Given the description of an element on the screen output the (x, y) to click on. 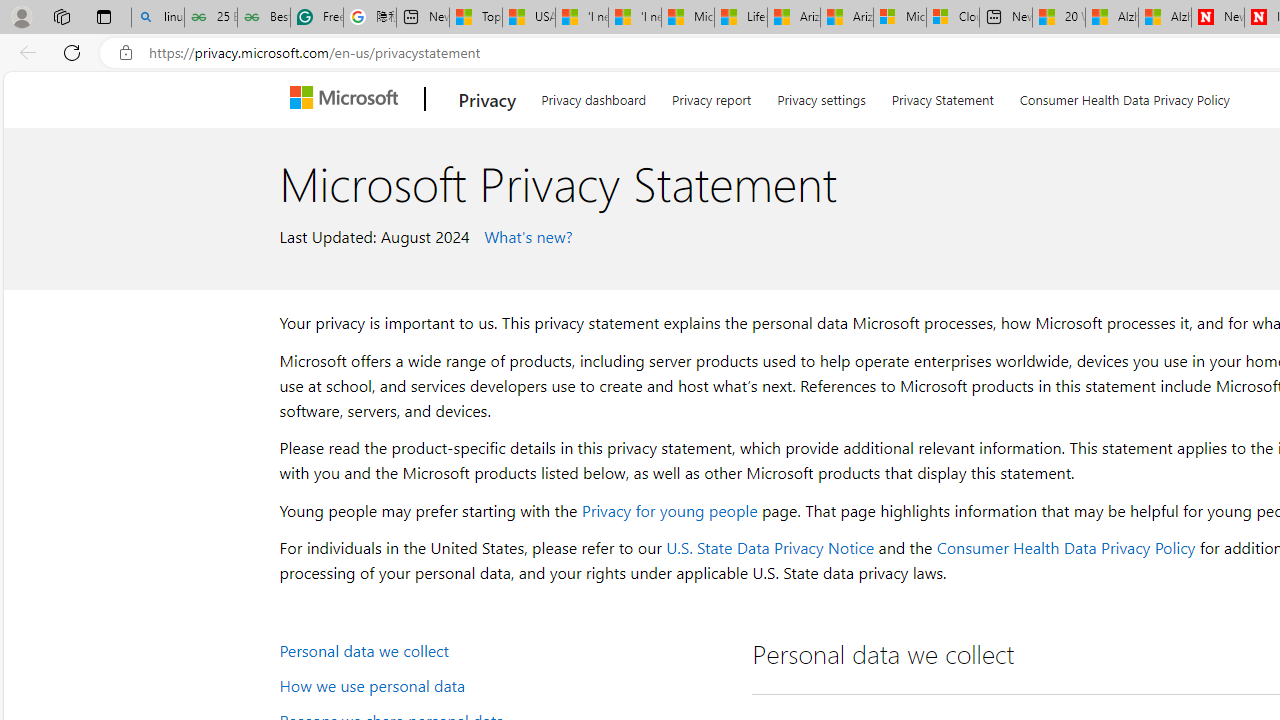
Privacy for young people (669, 509)
Best SSL Certificates Provider in India - GeeksforGeeks (264, 17)
 What's new? (525, 235)
Newsweek - News, Analysis, Politics, Business, Technology (1217, 17)
USA TODAY - MSN (529, 17)
Privacy dashboard (593, 96)
Microsoft Services Agreement (899, 17)
25 Basic Linux Commands For Beginners - GeeksforGeeks (210, 17)
Microsoft (348, 99)
Privacy report (712, 96)
